Given the description of an element on the screen output the (x, y) to click on. 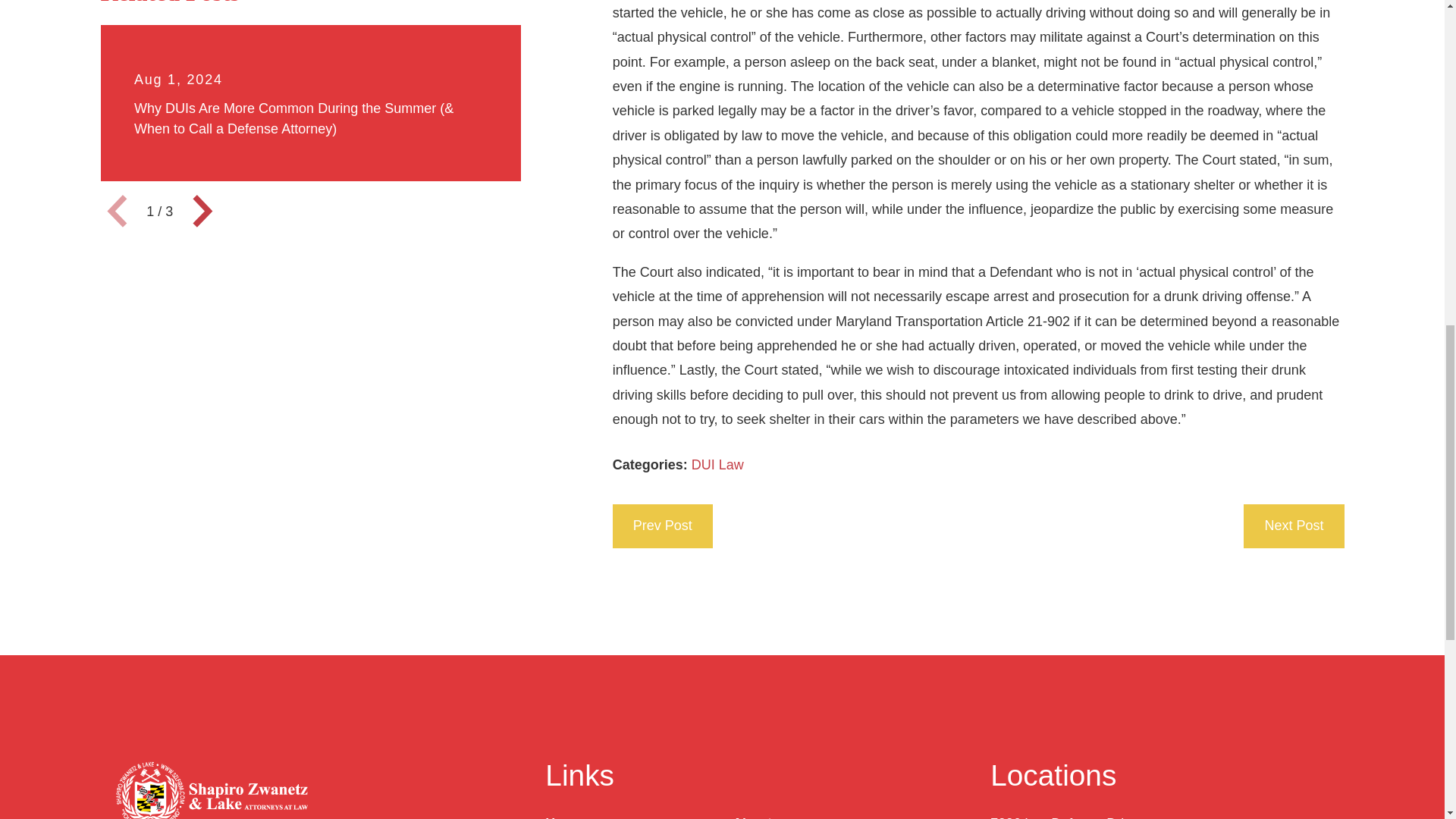
Home (209, 790)
View next item (202, 210)
View previous item (116, 210)
